Given the description of an element on the screen output the (x, y) to click on. 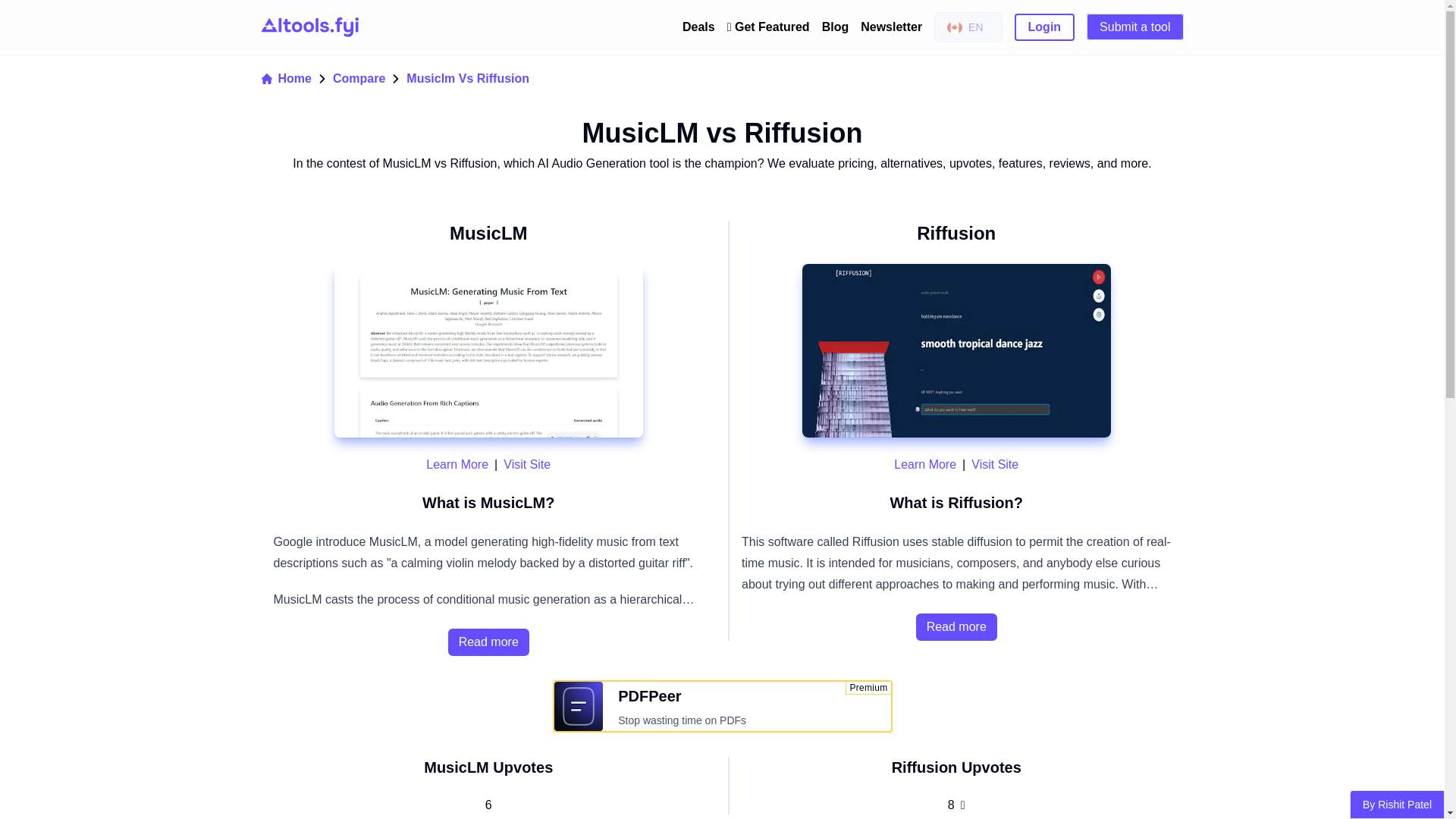
Submit a tool (1134, 26)
Read more (956, 626)
Visit Site (526, 464)
Visit Site (994, 464)
Blog (835, 26)
Home (285, 78)
Learn More (924, 464)
Read more (488, 642)
Newsletter (890, 26)
Login (1044, 26)
Learn More (456, 464)
Deals (698, 26)
EN (967, 27)
